Given the description of an element on the screen output the (x, y) to click on. 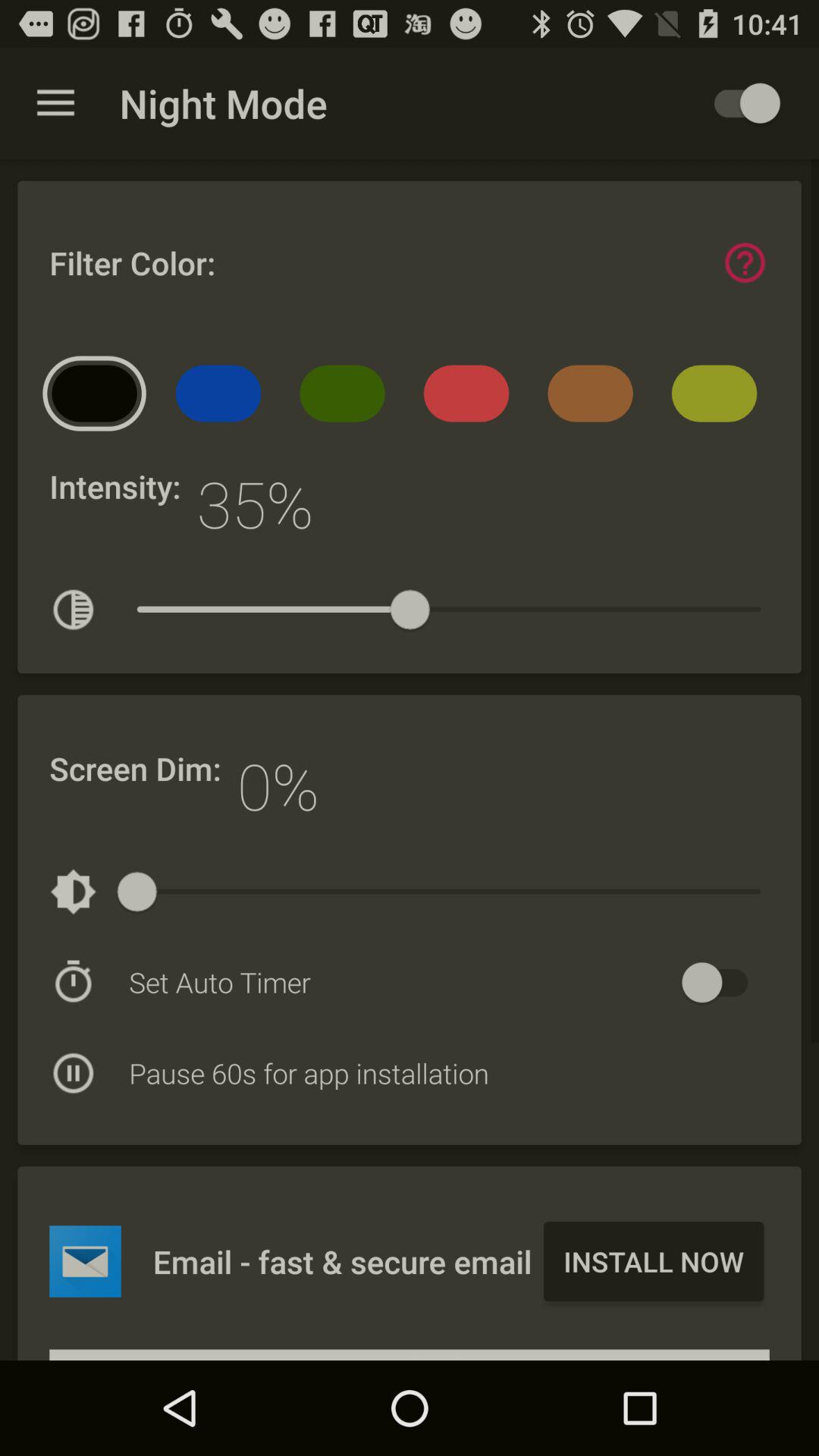
go to off (722, 982)
